Given the description of an element on the screen output the (x, y) to click on. 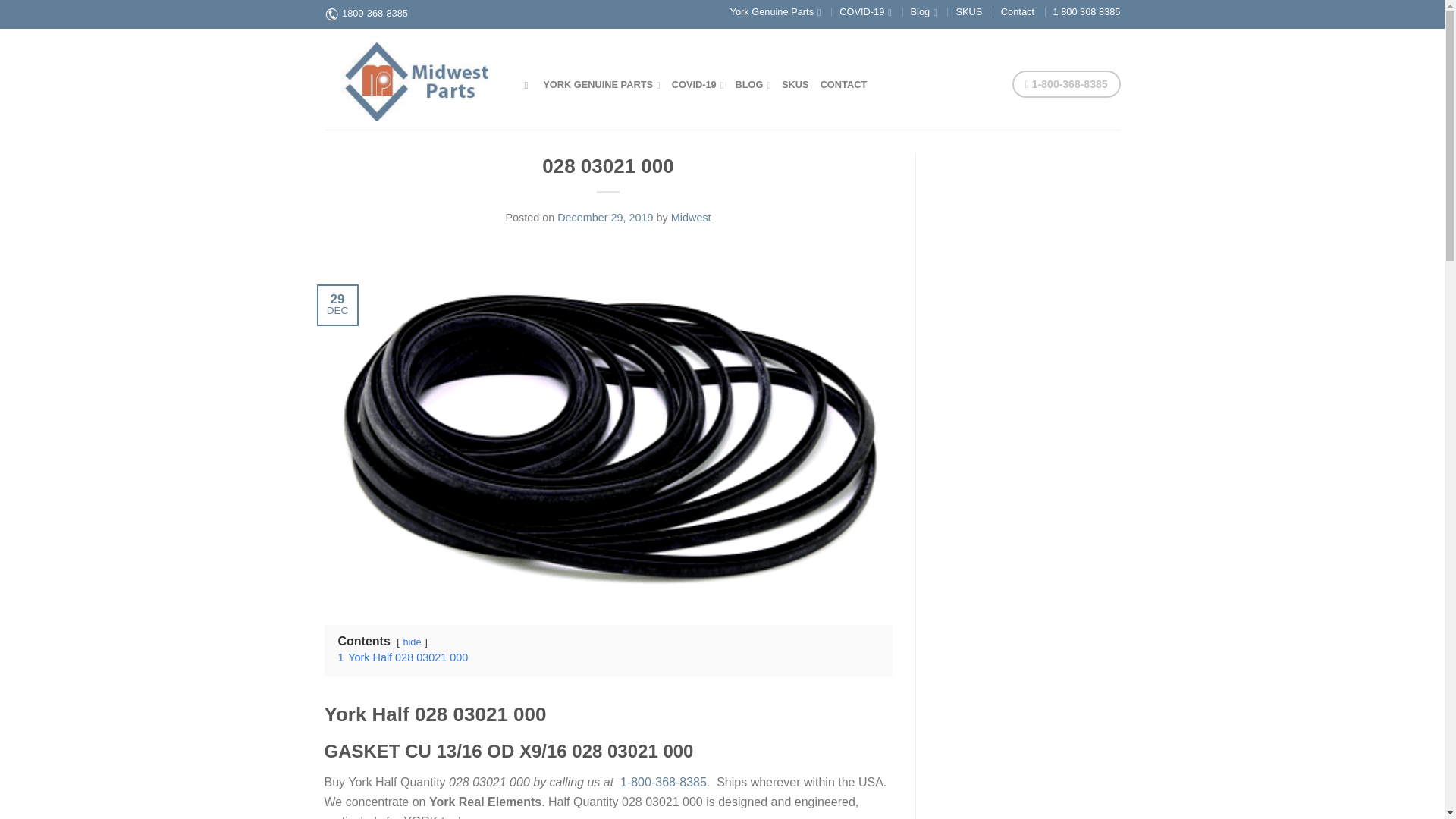
1800-368-8385 (374, 12)
YORK GENUINE PARTS (602, 84)
BLOG (752, 84)
Contact (1017, 11)
COVID-19 (697, 84)
SKUS (968, 11)
Midwest Parts Center - York Genuine Parts (413, 78)
COVID-19 (865, 11)
1 800 368 8385 (1086, 11)
York Genuine Parts (775, 11)
